Given the description of an element on the screen output the (x, y) to click on. 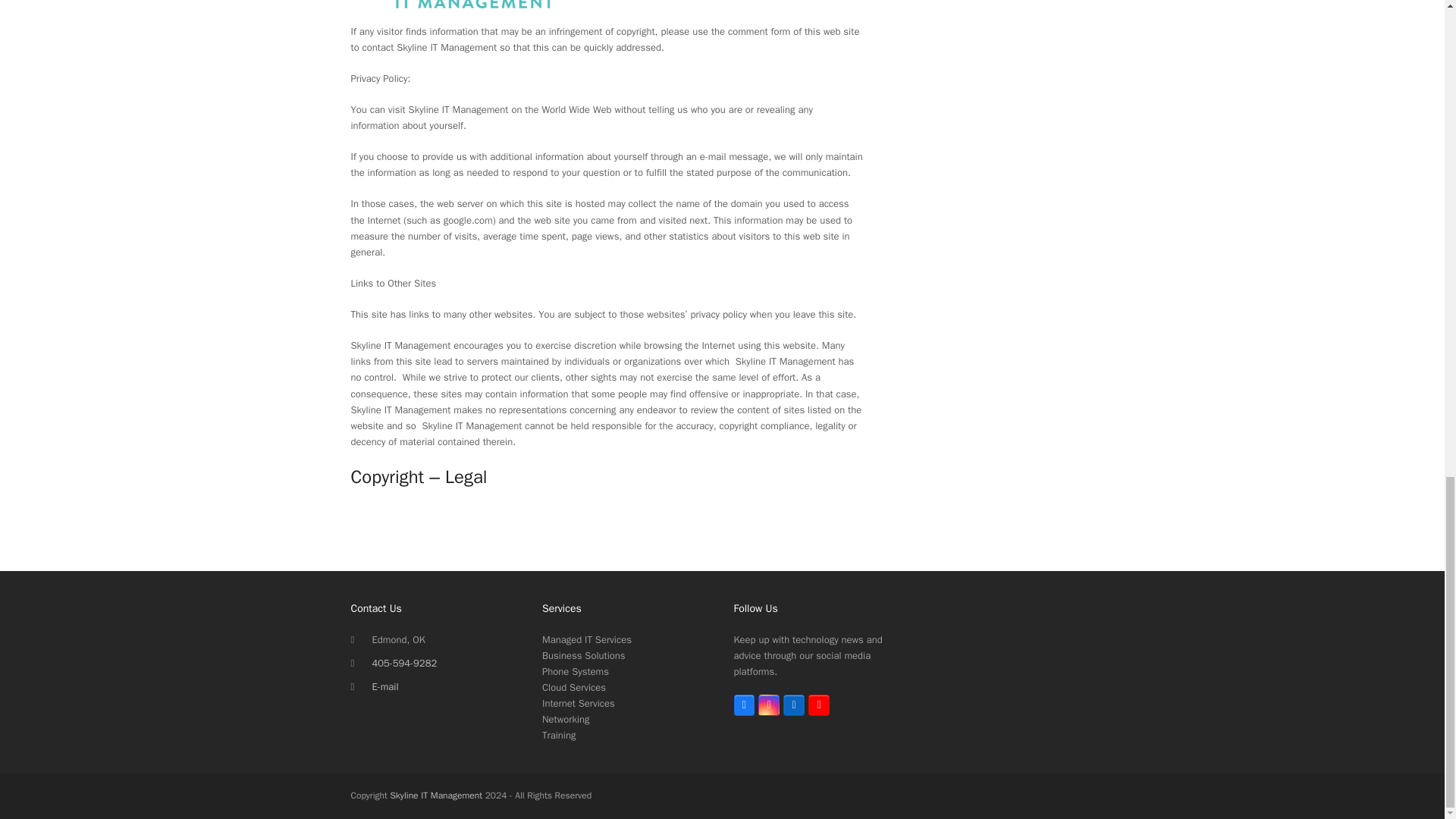
Skyline I.T. Management (923, 242)
View on Facebook (941, 192)
Share (998, 192)
View on Facebook (941, 790)
Share (998, 531)
Skyline I.T. Management (923, 581)
View on Facebook (941, 531)
Share (998, 790)
